Given the description of an element on the screen output the (x, y) to click on. 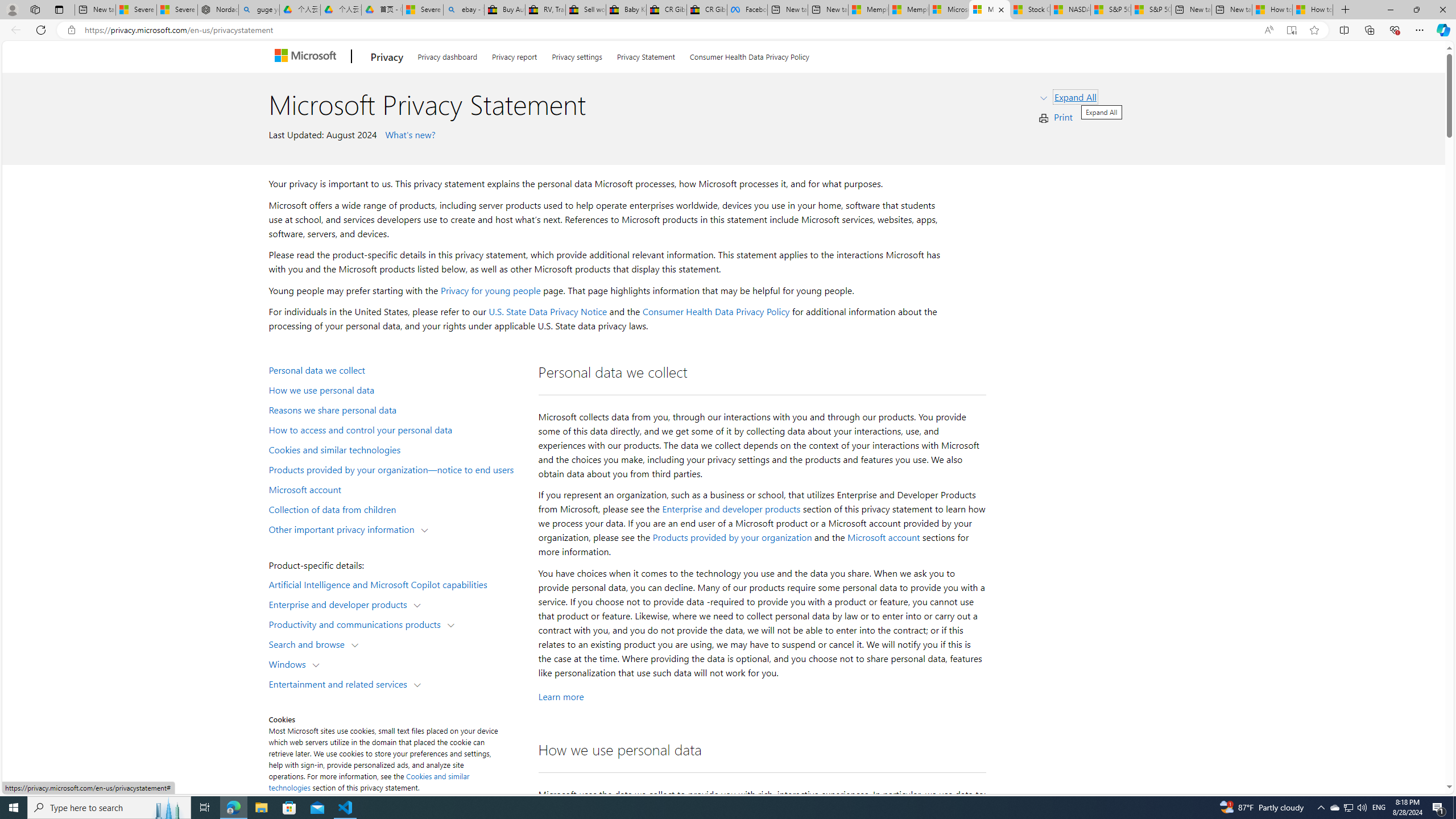
Products provided by your organization (732, 537)
Privacy settings (576, 54)
Collection of data from children (395, 508)
Privacy report (514, 54)
Enter Immersive Reader (F9) (1291, 29)
Enterprise and developer products (340, 603)
Privacy settings (577, 54)
Cookies and similar technologies (368, 780)
Expand All (1075, 96)
Artificial Intelligence and Microsoft Copilot capabilities (395, 583)
Microsoft account (395, 488)
